Given the description of an element on the screen output the (x, y) to click on. 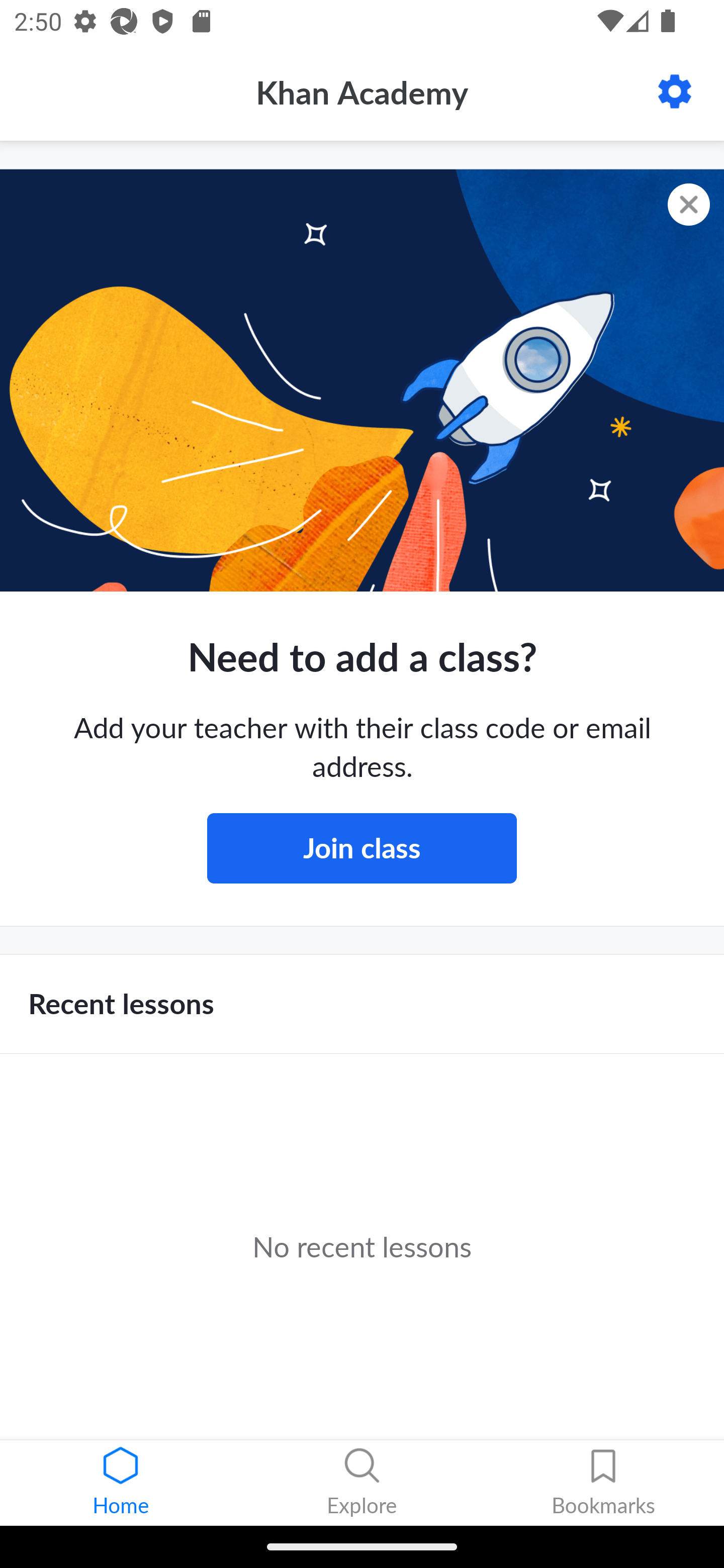
Settings (674, 91)
Dismiss (688, 204)
Join class (361, 847)
Home (120, 1482)
Explore (361, 1482)
Bookmarks (603, 1482)
